Given the description of an element on the screen output the (x, y) to click on. 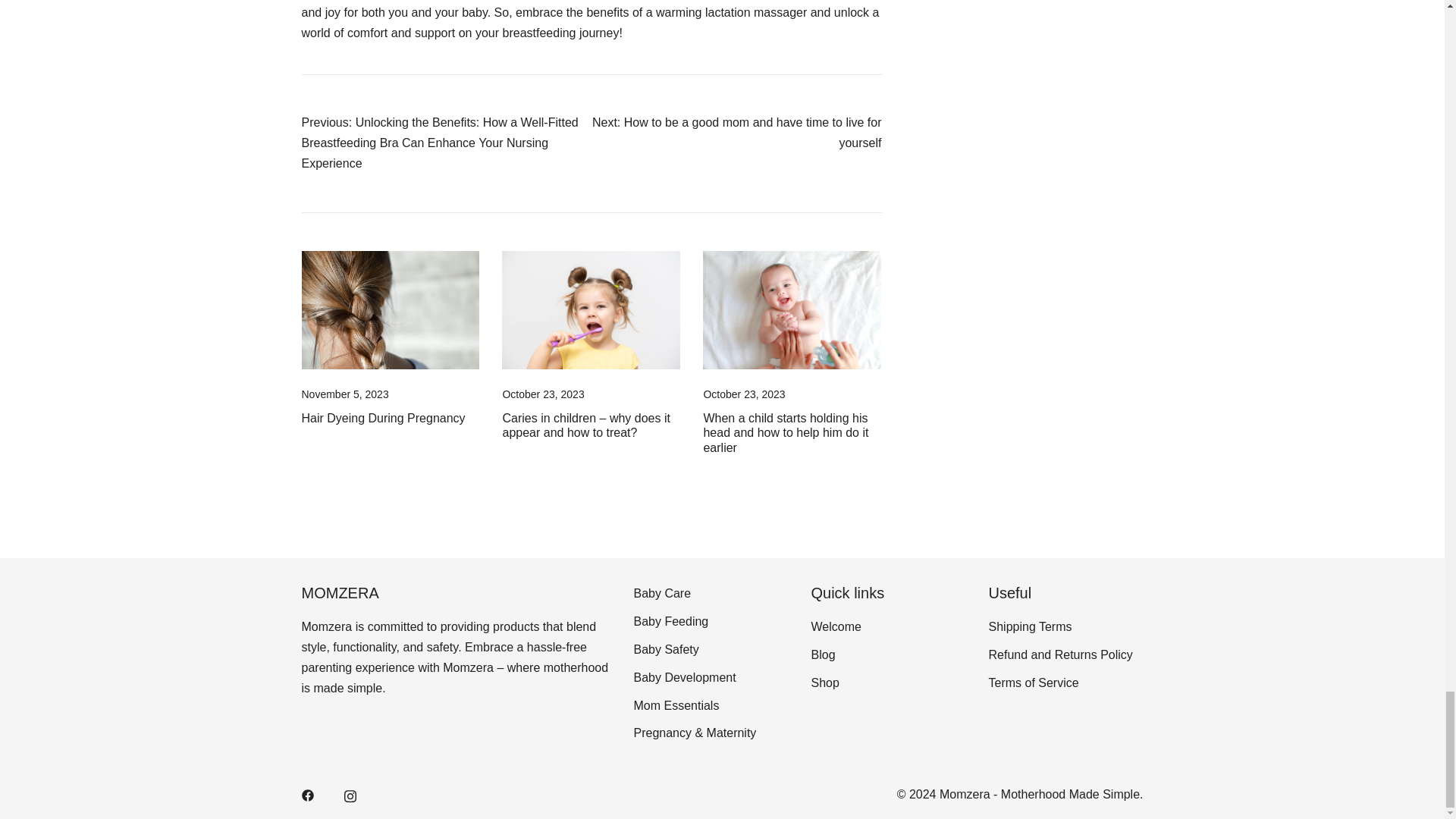
November 5, 2023 (344, 394)
October 23, 2023 (542, 394)
Hair Dyeing During Pregnancy (383, 418)
